Given the description of an element on the screen output the (x, y) to click on. 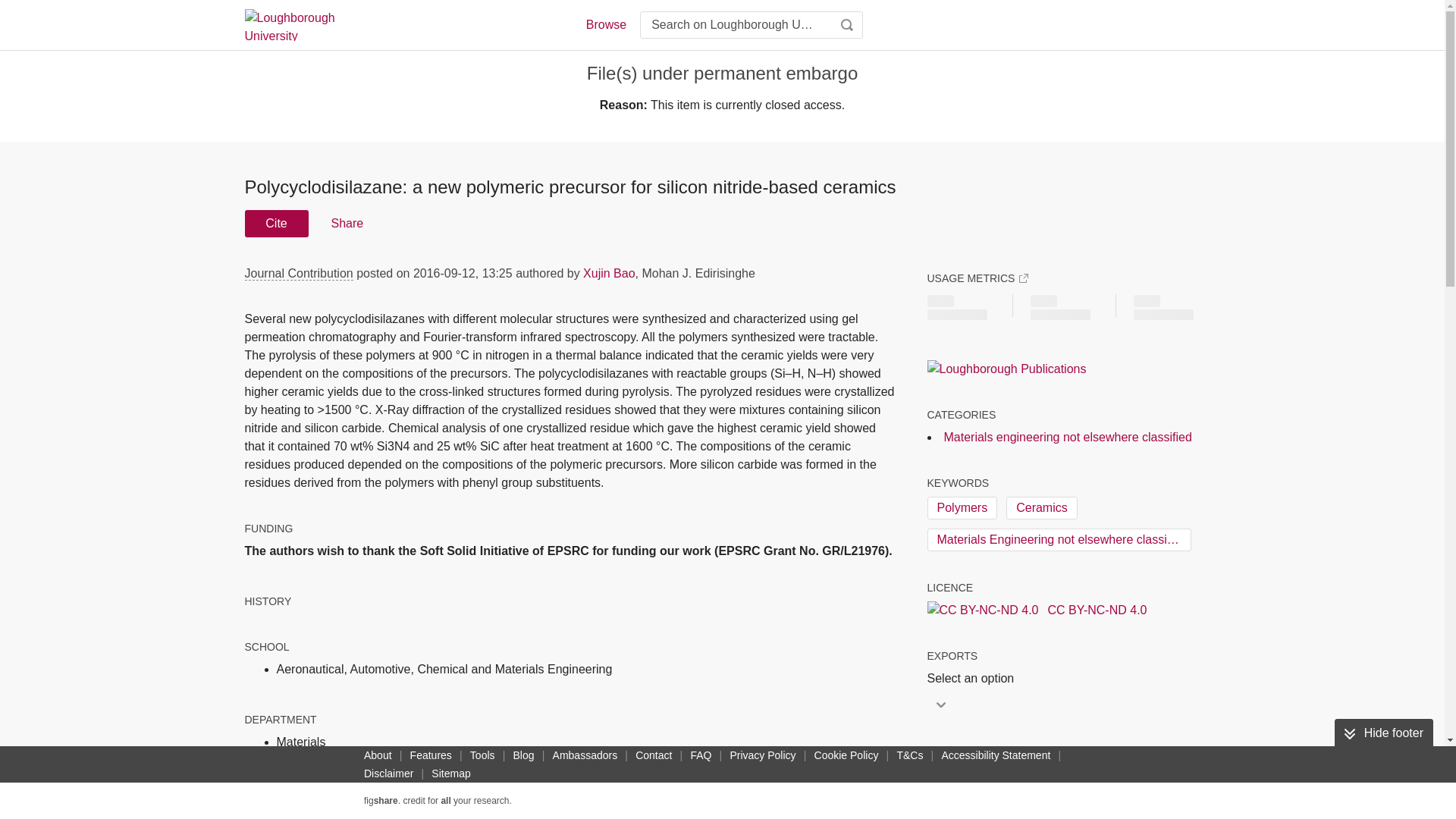
FAQ (700, 755)
Disclaimer (388, 773)
Cite (275, 223)
Ceramics (1041, 507)
Features (431, 755)
USAGE METRICS (976, 277)
Materials Engineering not elsewhere classified (1058, 539)
Polymers (961, 507)
Contact (653, 755)
CC BY-NC-ND 4.0 (1036, 610)
Hide footer (1383, 733)
Share (346, 223)
Xujin Bao (608, 273)
Browse (605, 24)
Privacy Policy (762, 755)
